Given the description of an element on the screen output the (x, y) to click on. 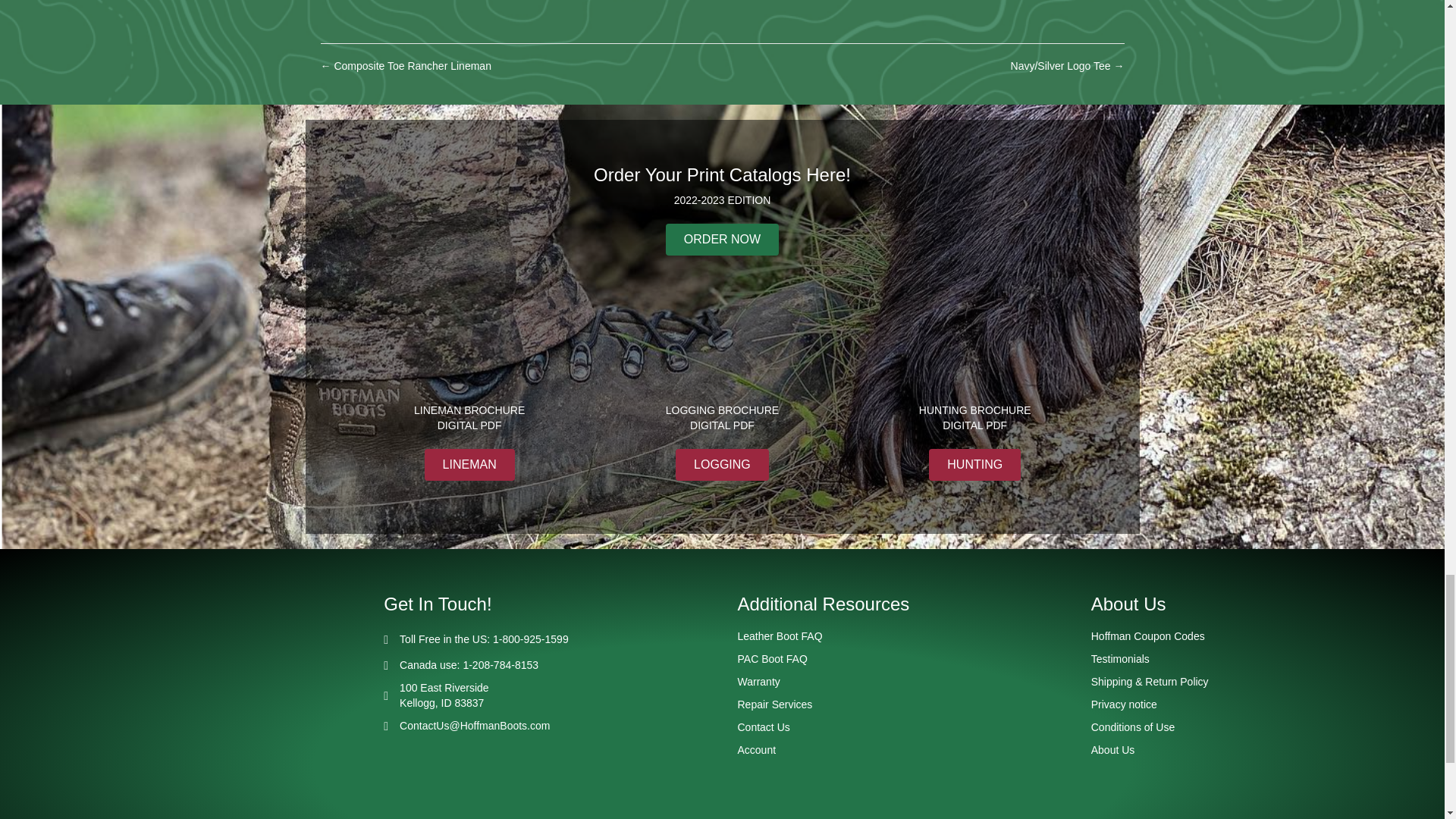
Click Here (470, 464)
Click Here (721, 464)
Click Here (974, 464)
Click Here (721, 239)
